Given the description of an element on the screen output the (x, y) to click on. 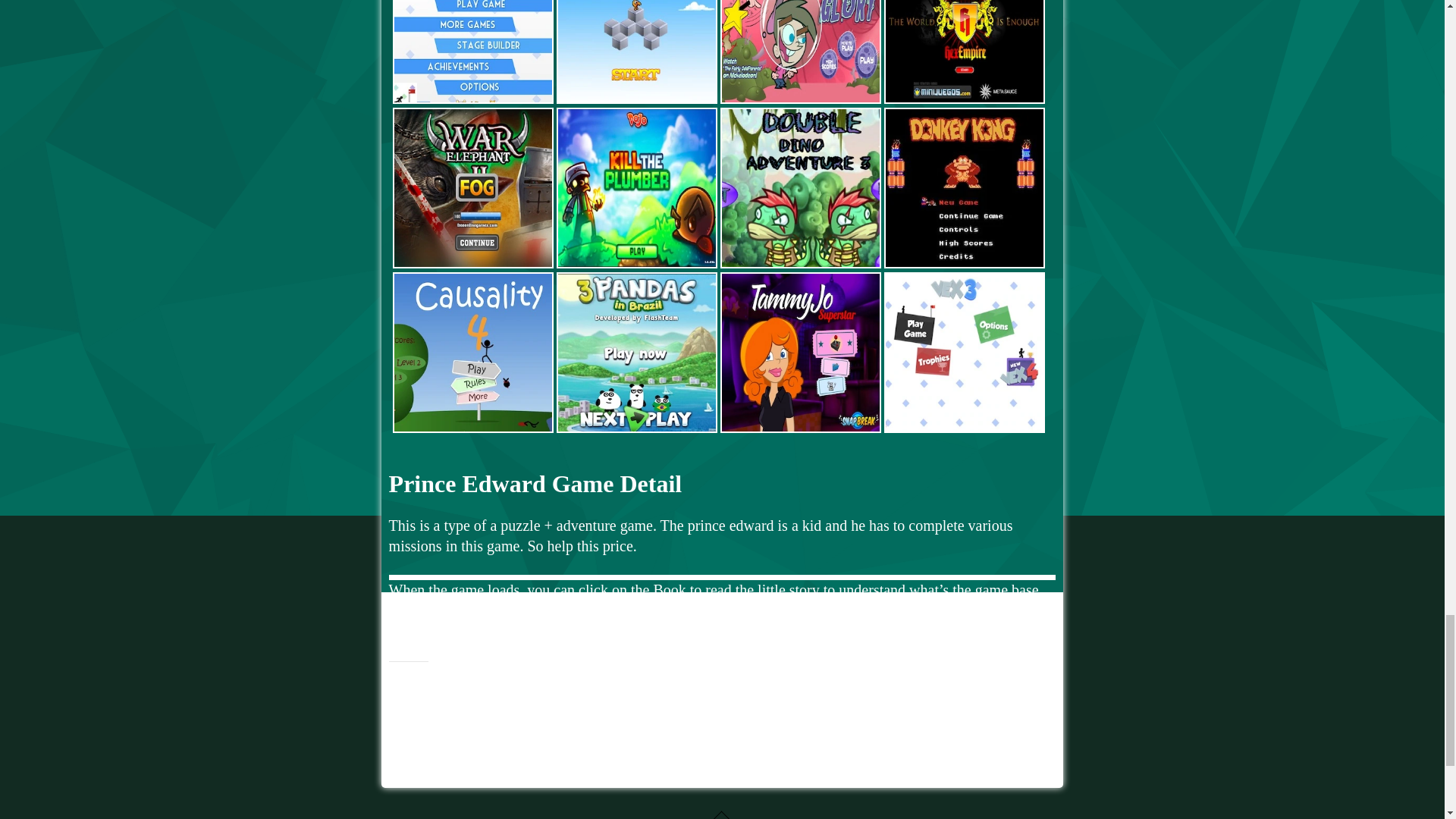
LinkedIn (507, 691)
Twitter (405, 691)
Pinterest (472, 691)
